Given the description of an element on the screen output the (x, y) to click on. 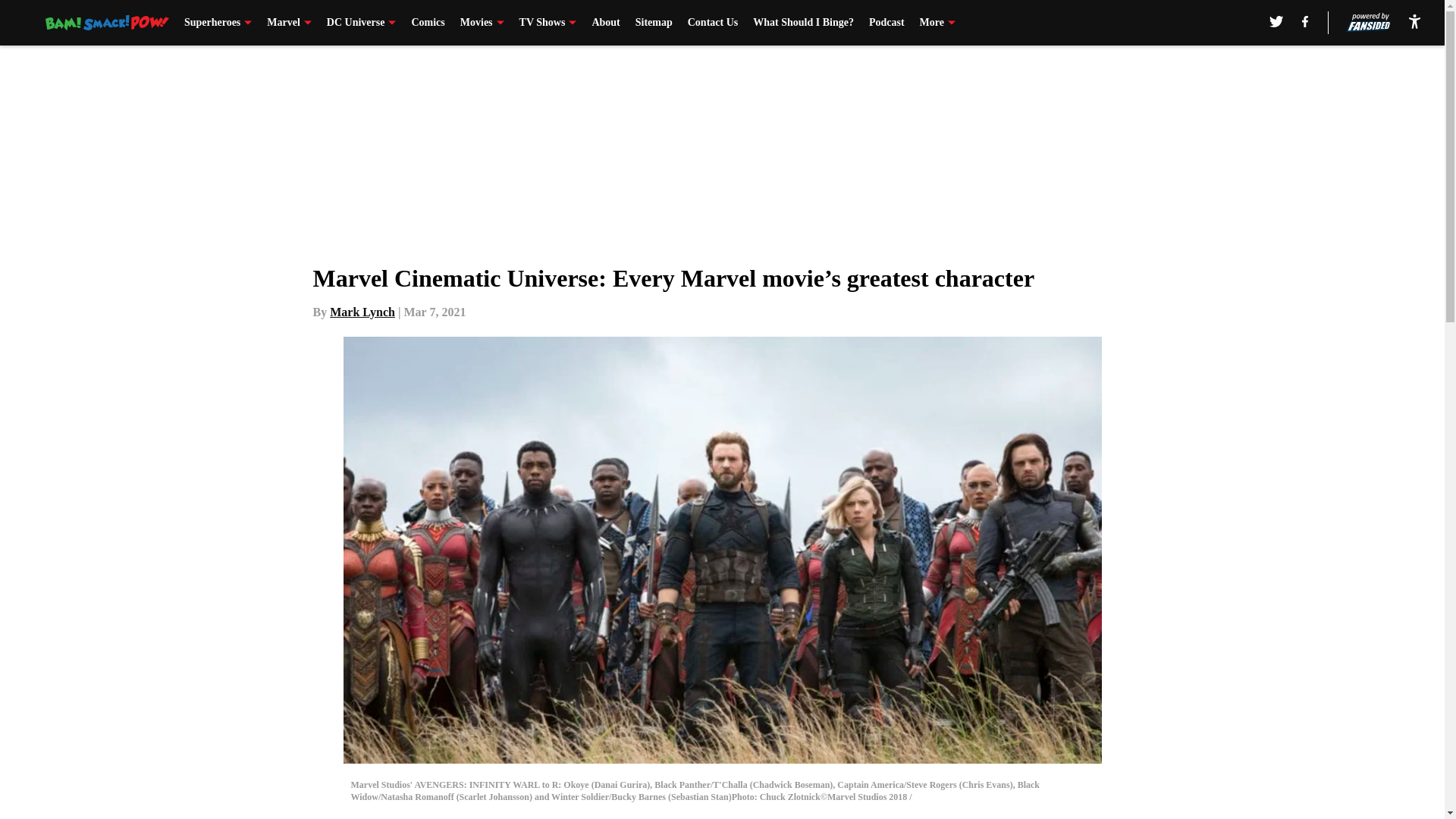
Movies (481, 22)
About (605, 22)
More (937, 22)
Mark Lynch (362, 311)
Sitemap (653, 22)
Podcast (886, 22)
What Should I Binge? (802, 22)
Comics (427, 22)
Contact Us (712, 22)
